Given the description of an element on the screen output the (x, y) to click on. 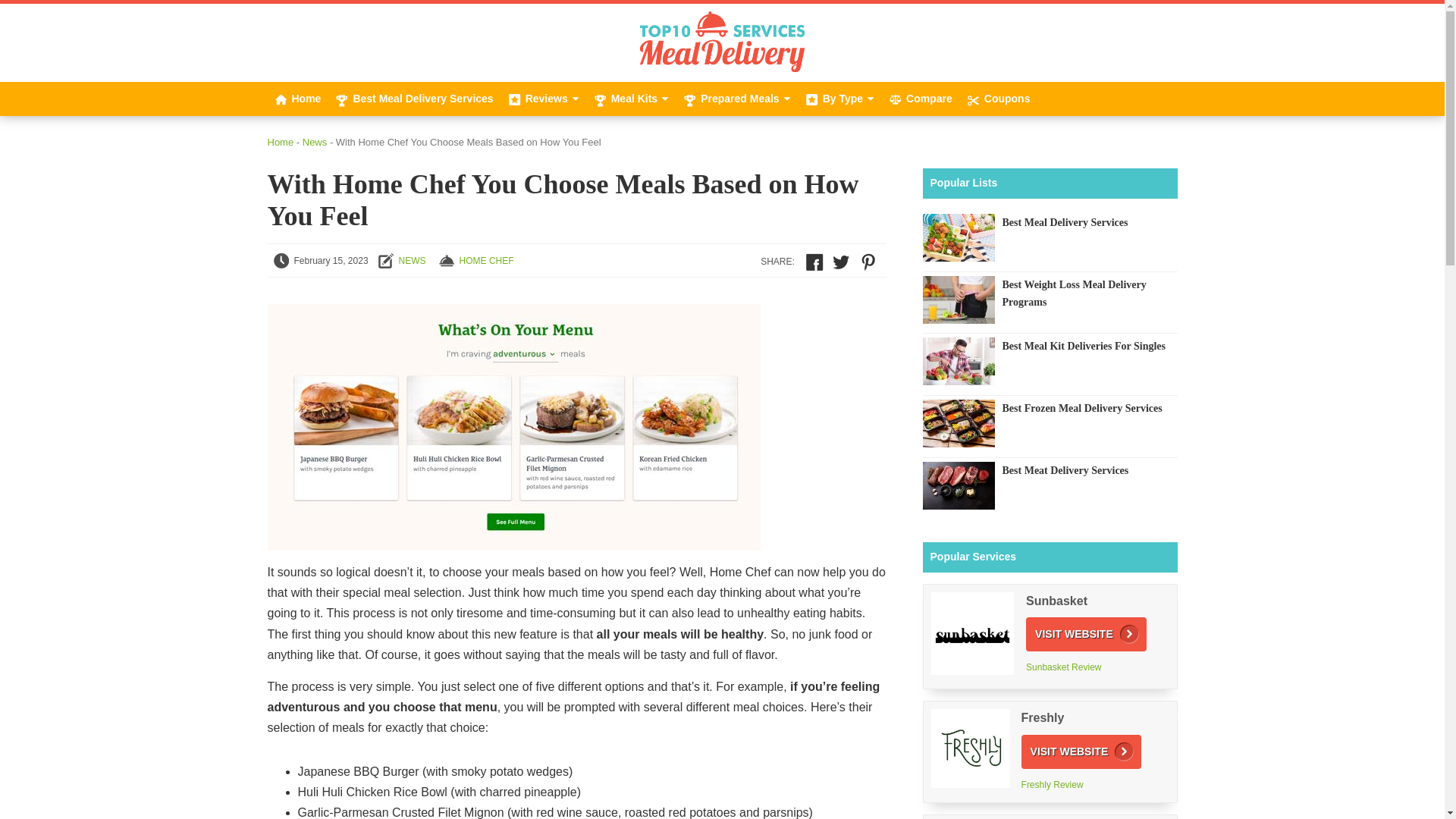
Best Meal Kit Deliveries For Singles (957, 364)
Best Frozen Meal Delivery Services (957, 426)
News (412, 260)
Best Meat Delivery Services (957, 488)
Go to Top 10 Meal Delivery Services. (280, 142)
Tweet (840, 262)
Best Frozen Meal Delivery Services (1048, 408)
Share on Facebook (814, 262)
Best Meal Delivery Services (957, 240)
Best Weight Loss Meal Delivery Programs (1048, 294)
